Given the description of an element on the screen output the (x, y) to click on. 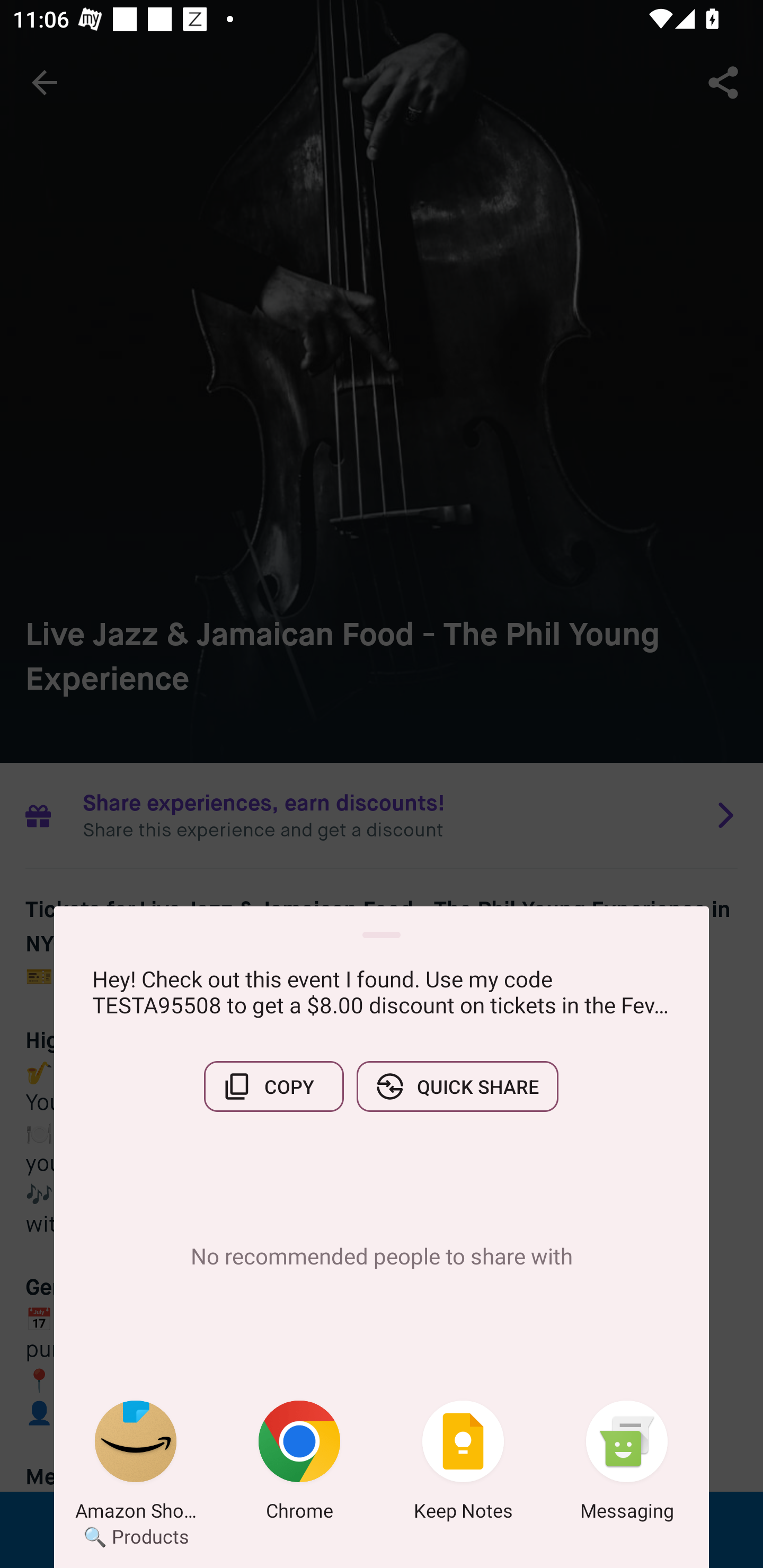
COPY (273, 1086)
QUICK SHARE (457, 1086)
Amazon Shopping 🔍 Products (135, 1463)
Chrome (299, 1463)
Keep Notes (463, 1463)
Messaging (626, 1463)
